Given the description of an element on the screen output the (x, y) to click on. 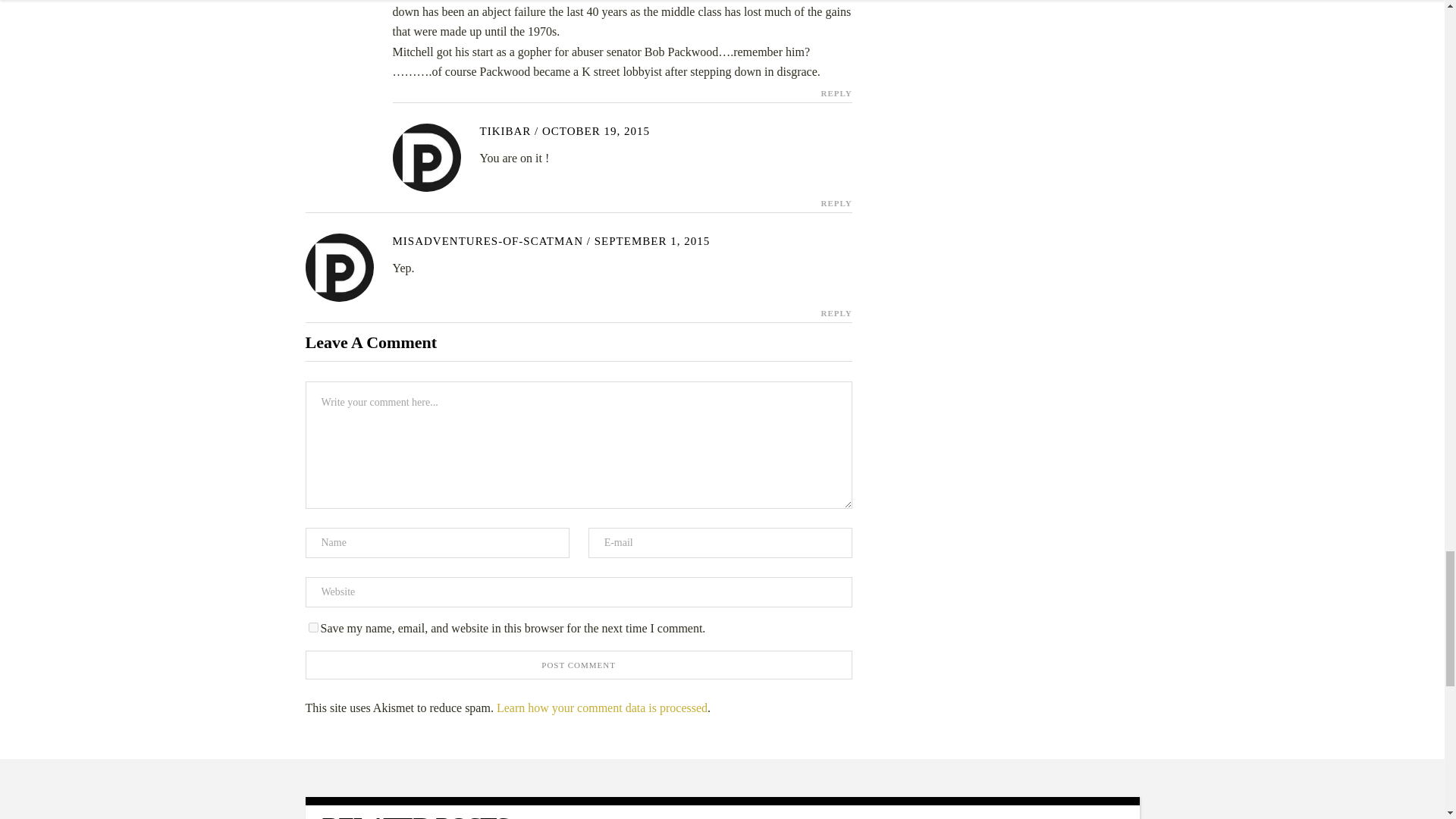
yes (312, 627)
Post Comment (577, 664)
